Given the description of an element on the screen output the (x, y) to click on. 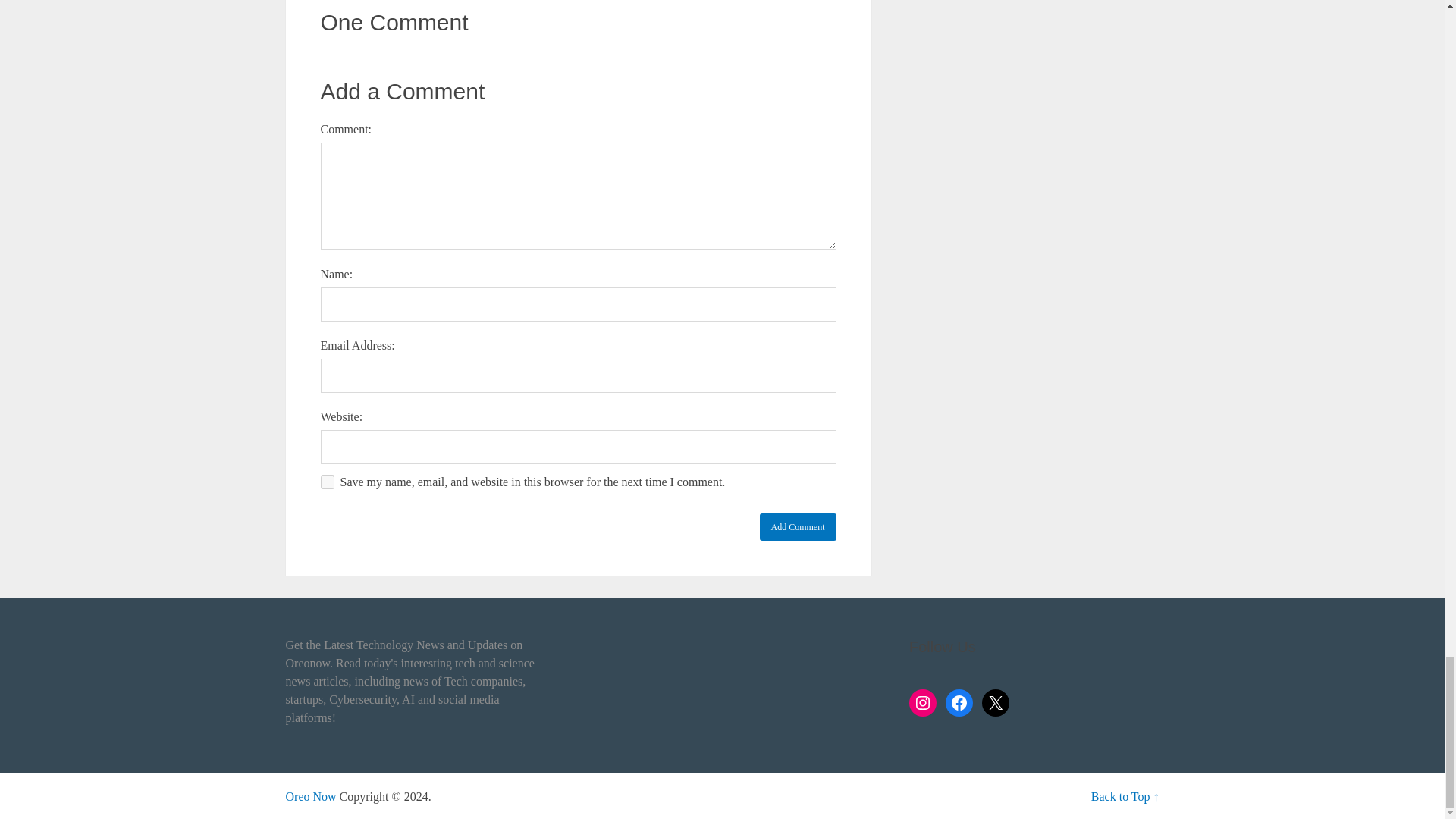
Add Comment (797, 526)
Add Comment (797, 526)
yes (326, 481)
Trending News, Views and Reviews (310, 796)
